Given the description of an element on the screen output the (x, y) to click on. 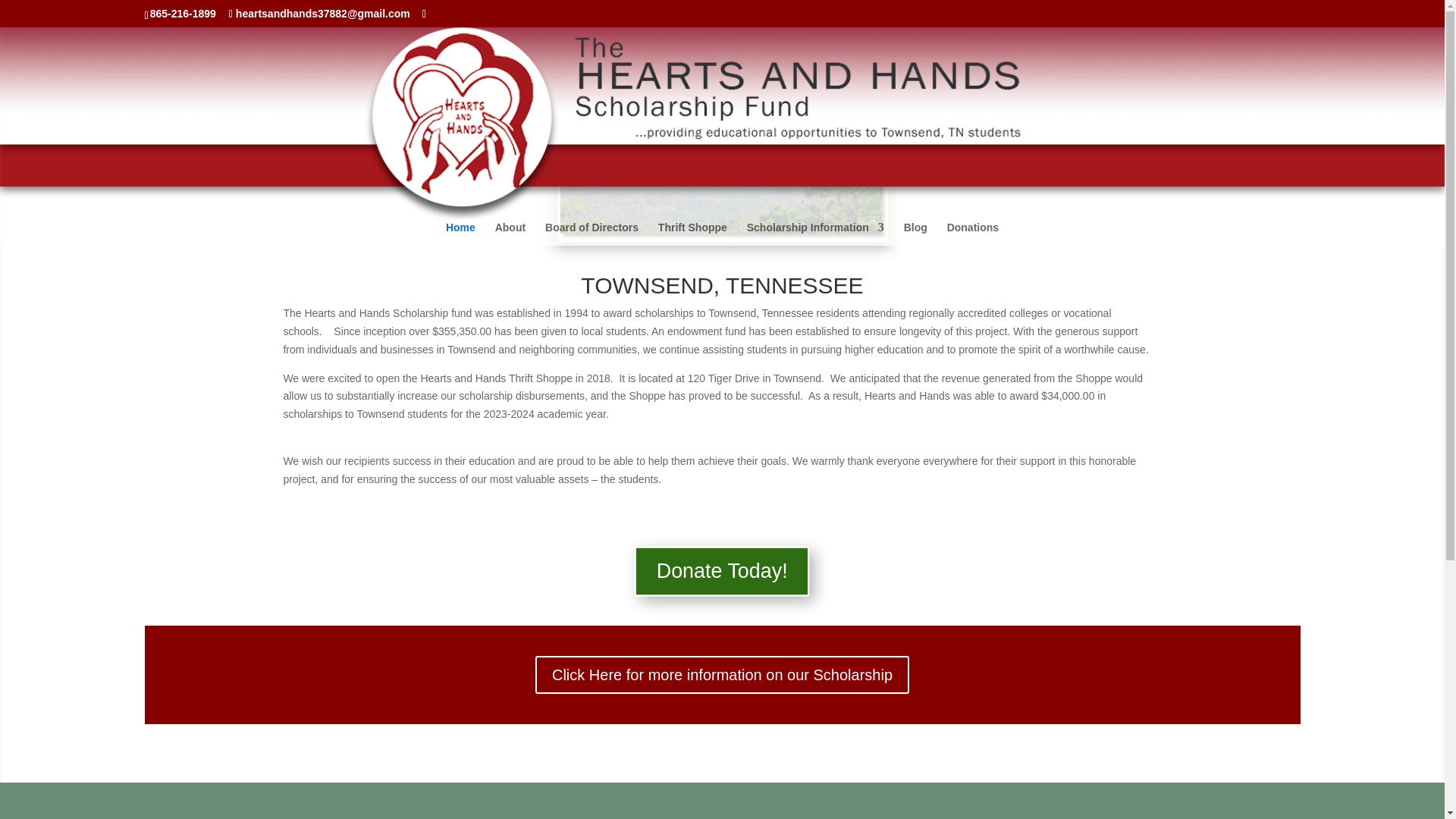
Board of Directors (591, 233)
Click Here for more information on our Scholarship (721, 674)
Home (460, 233)
Donations (972, 233)
About (510, 233)
Thrift Shoppe (692, 233)
Donate Today! (712, 569)
Scholarship Information (814, 233)
Blog (915, 233)
